Given the description of an element on the screen output the (x, y) to click on. 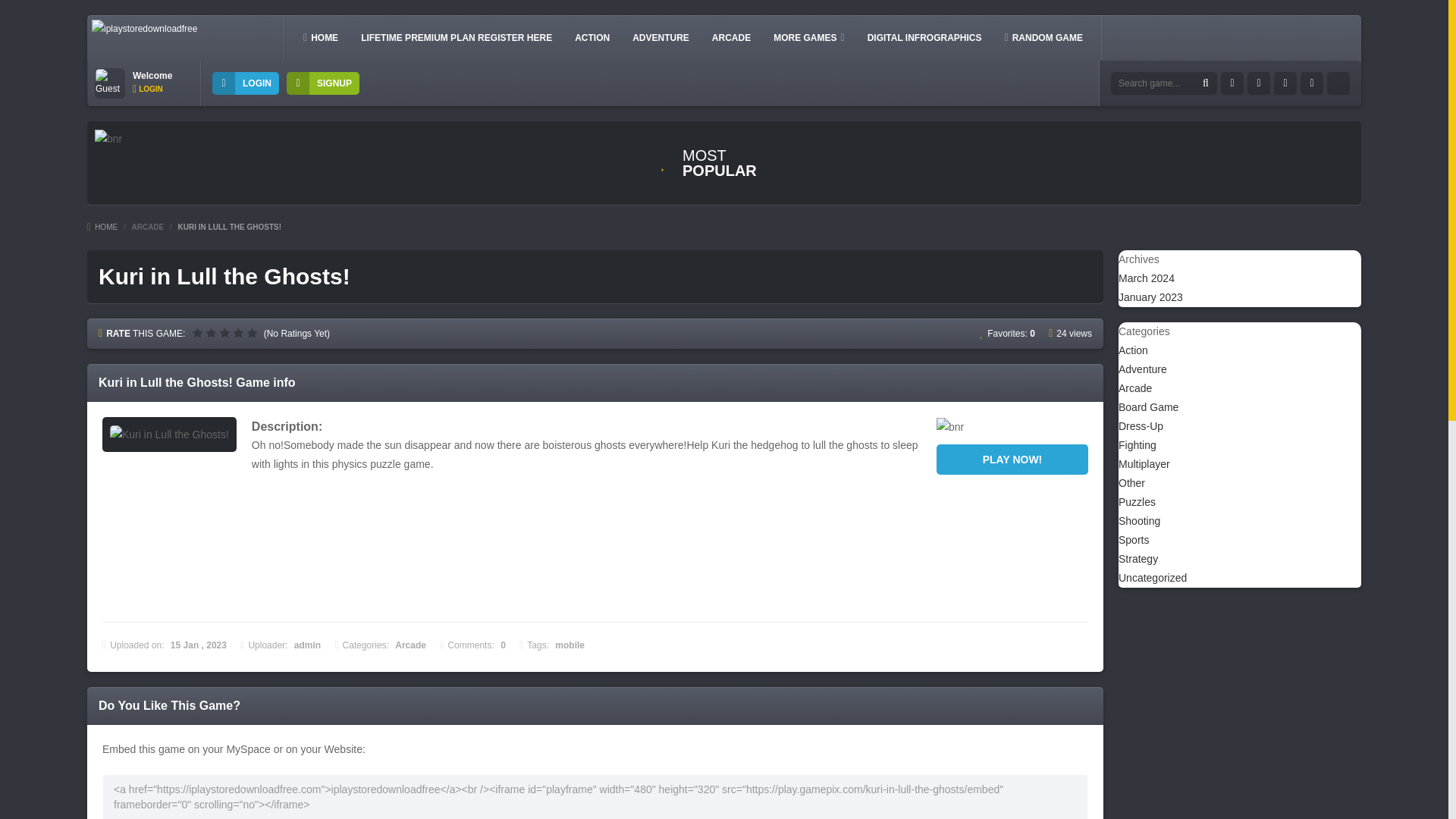
LIFETIME PREMIUM PLAN REGISTER HERE (456, 37)
LOGIN (147, 89)
Facebook (1232, 83)
SIGNUP (322, 83)
ARCADE (731, 37)
Feed (1337, 83)
LOGIN (245, 83)
Twitter (1258, 83)
DIGITAL INFROGRAPHICS (925, 37)
SIGNUP (322, 83)
Feed (1311, 83)
HOME (320, 37)
Instagram (1285, 83)
ACTION (592, 37)
iplaystoredownloadfree (143, 28)
